Given the description of an element on the screen output the (x, y) to click on. 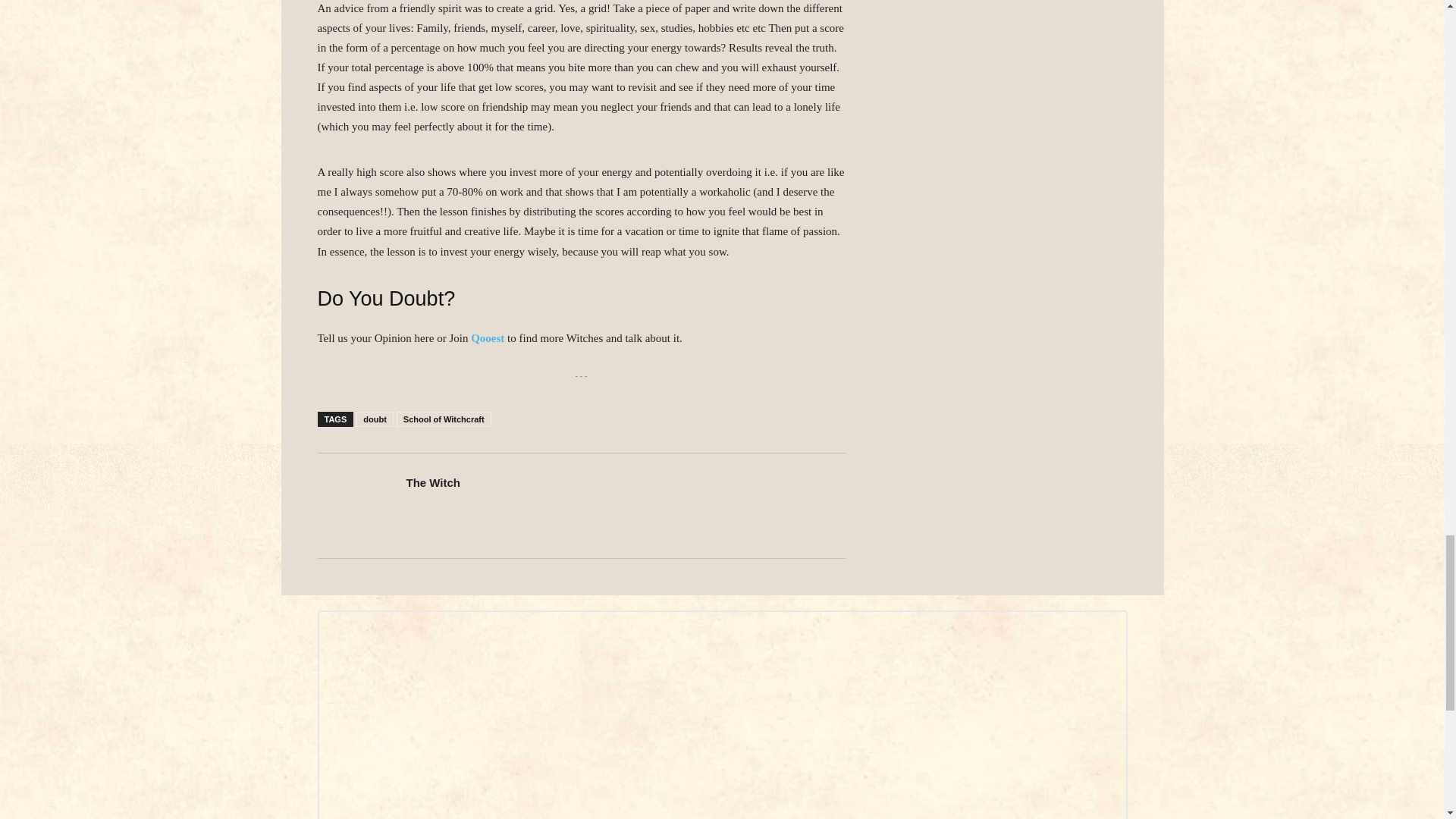
School of Witchcraft (444, 418)
The Witch (433, 481)
doubt (374, 418)
Qooest (486, 337)
